Given the description of an element on the screen output the (x, y) to click on. 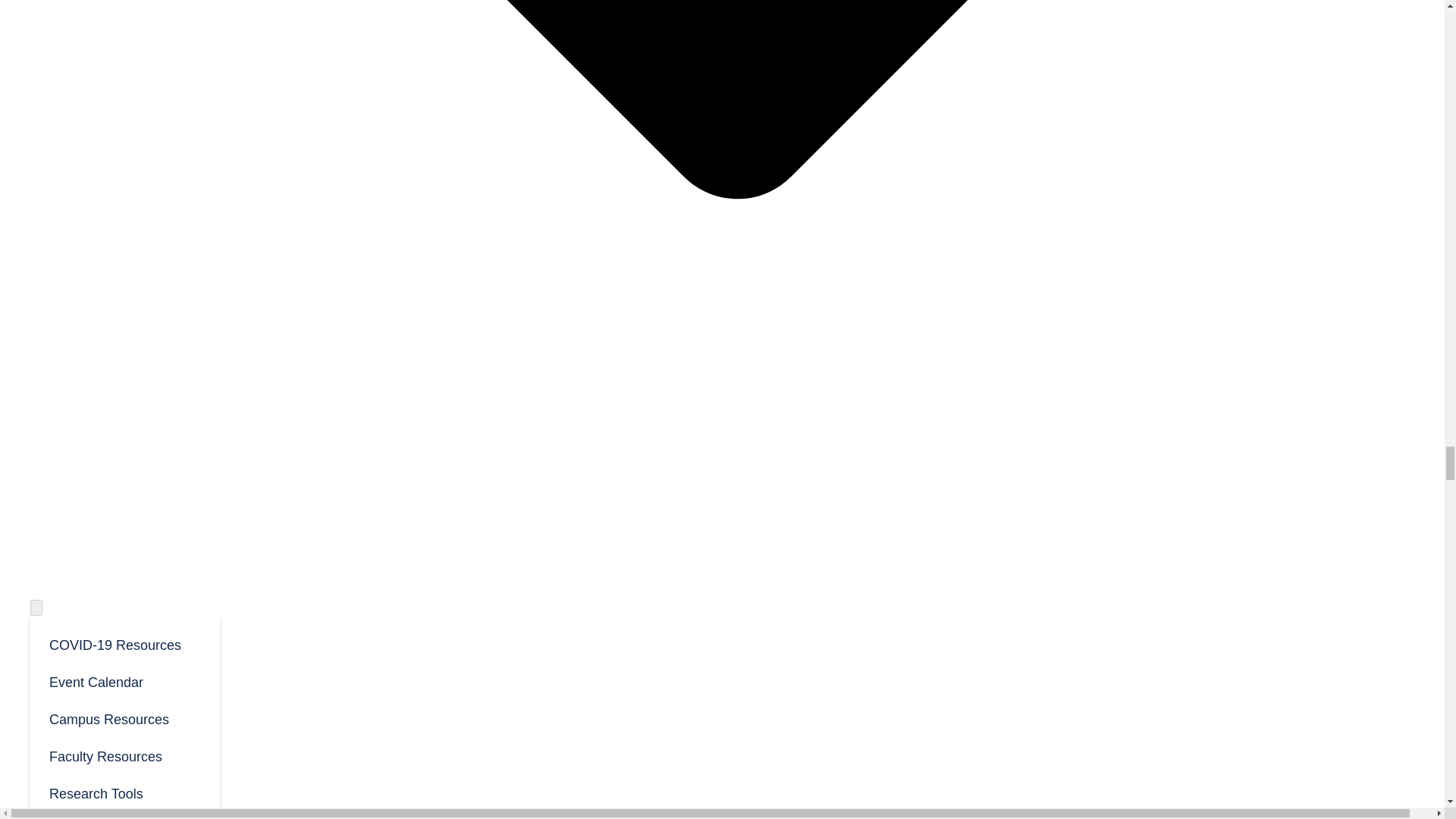
Faculty Resources (125, 755)
Event Calendar (125, 681)
Research Tools (125, 792)
Campus Resources (125, 718)
News Stories (125, 815)
COVID-19 Resources (125, 643)
